Given the description of an element on the screen output the (x, y) to click on. 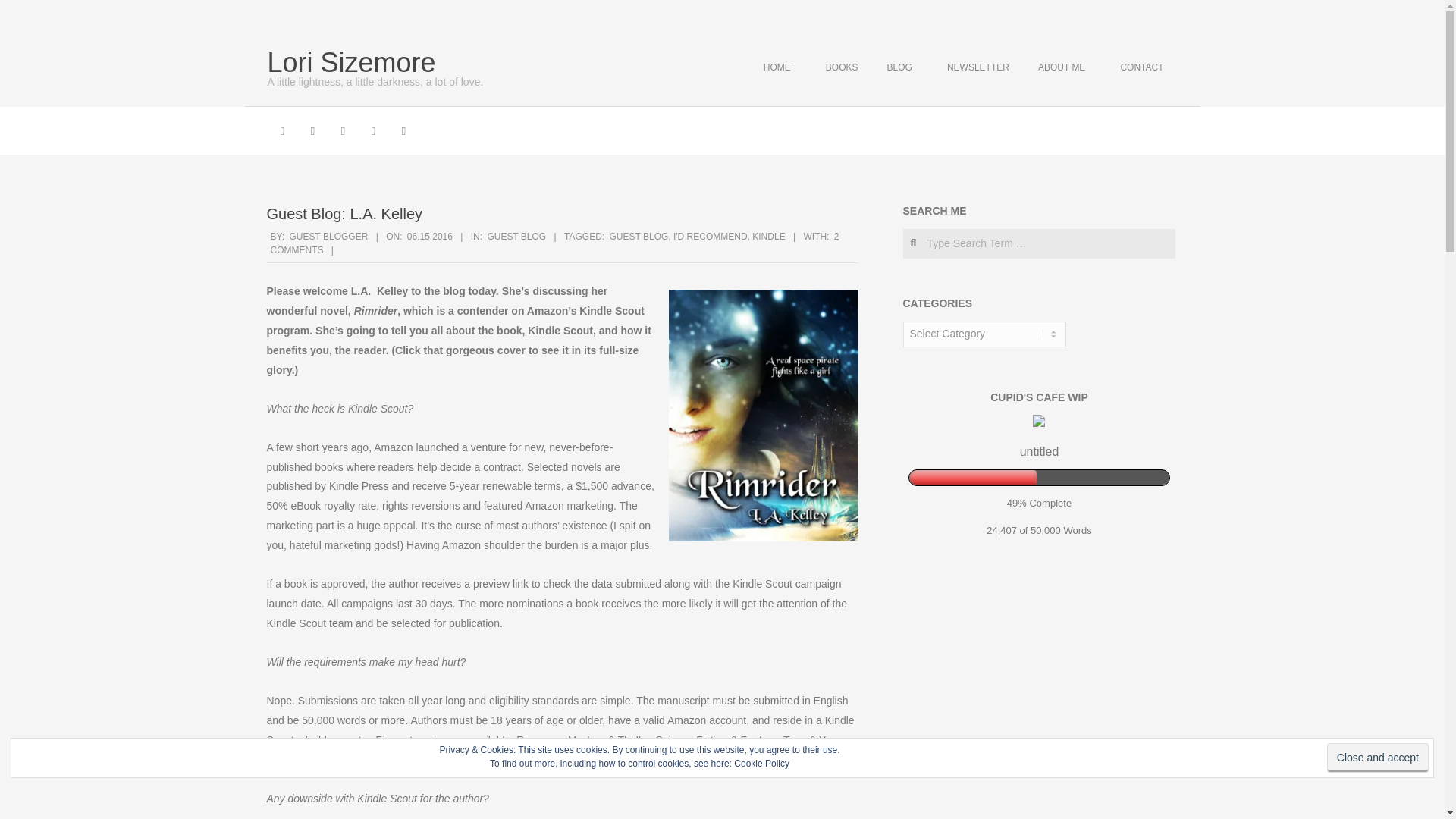
I'D RECOMMEND (710, 235)
NEWSLETTER (977, 68)
Lori Sizemore (350, 61)
CONTACT (903, 68)
2 COMMENTS (1144, 68)
GUEST BLOG (553, 242)
BOOKS (639, 235)
Posts by Guest Blogger (842, 68)
KINDLE (328, 235)
